Given the description of an element on the screen output the (x, y) to click on. 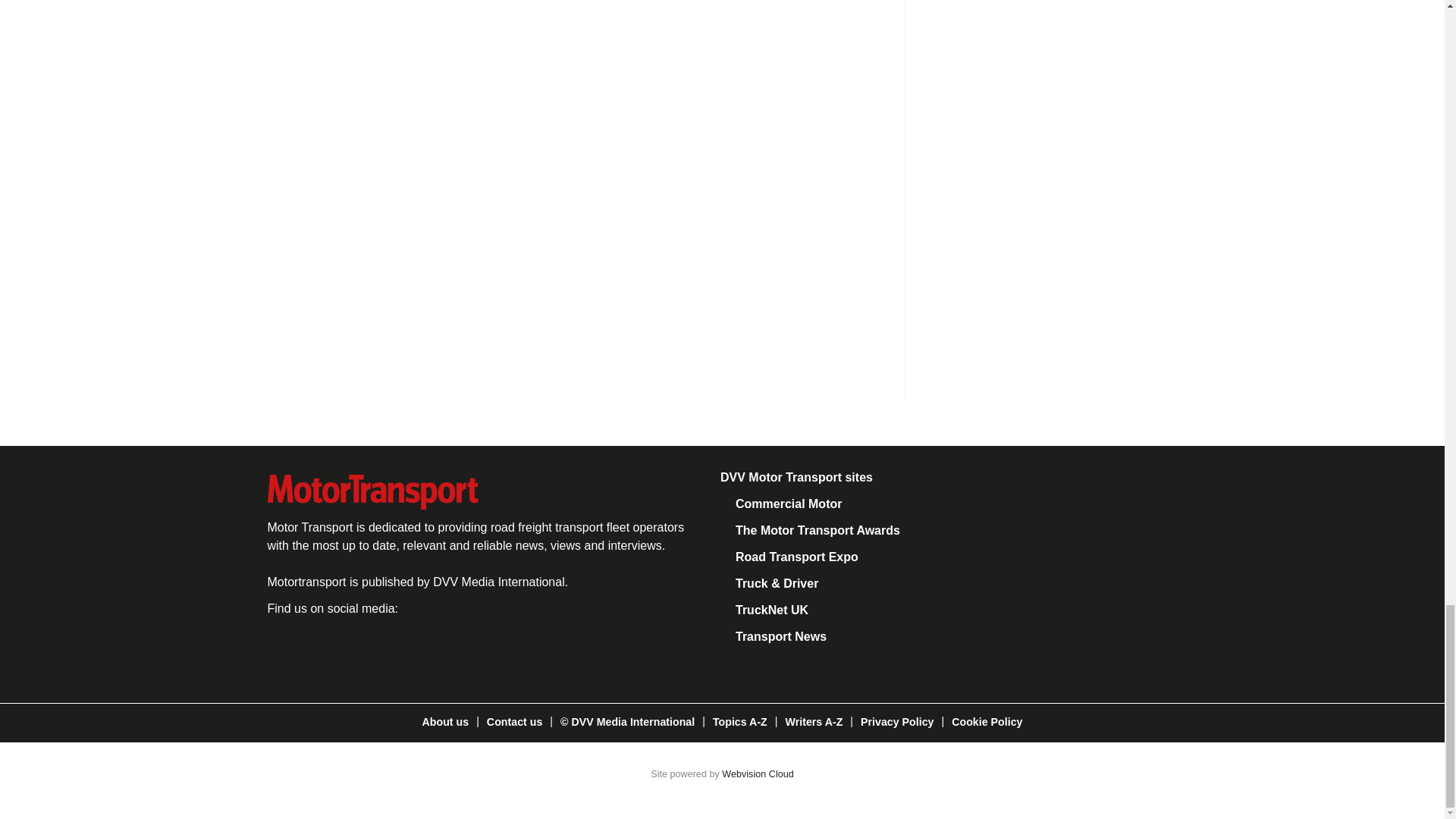
Email us (438, 647)
Connect with us on Linked in (387, 647)
Connect with us on Twitter (336, 647)
Connect with us on Facebook (284, 647)
